Given the description of an element on the screen output the (x, y) to click on. 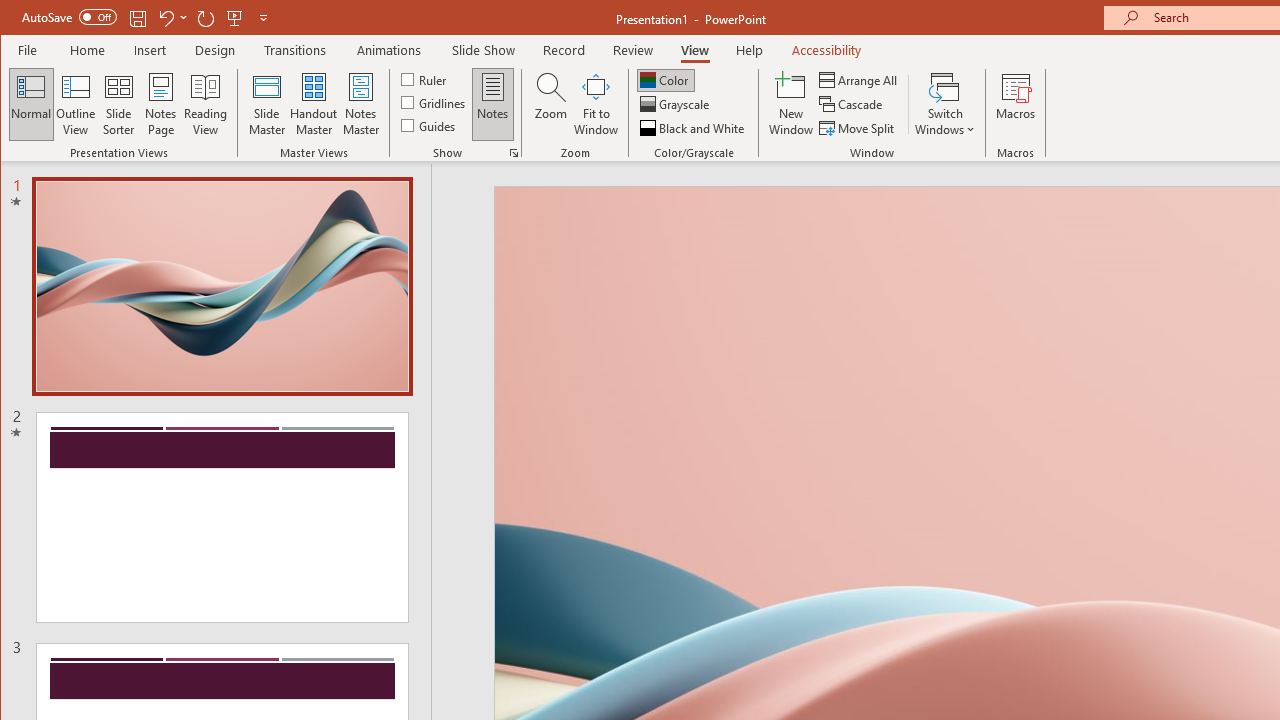
New Window (791, 104)
Move Split (858, 127)
Handout Master (314, 104)
Notes Master (360, 104)
Notes (493, 104)
Color (666, 80)
Fit to Window (596, 104)
